Given the description of an element on the screen output the (x, y) to click on. 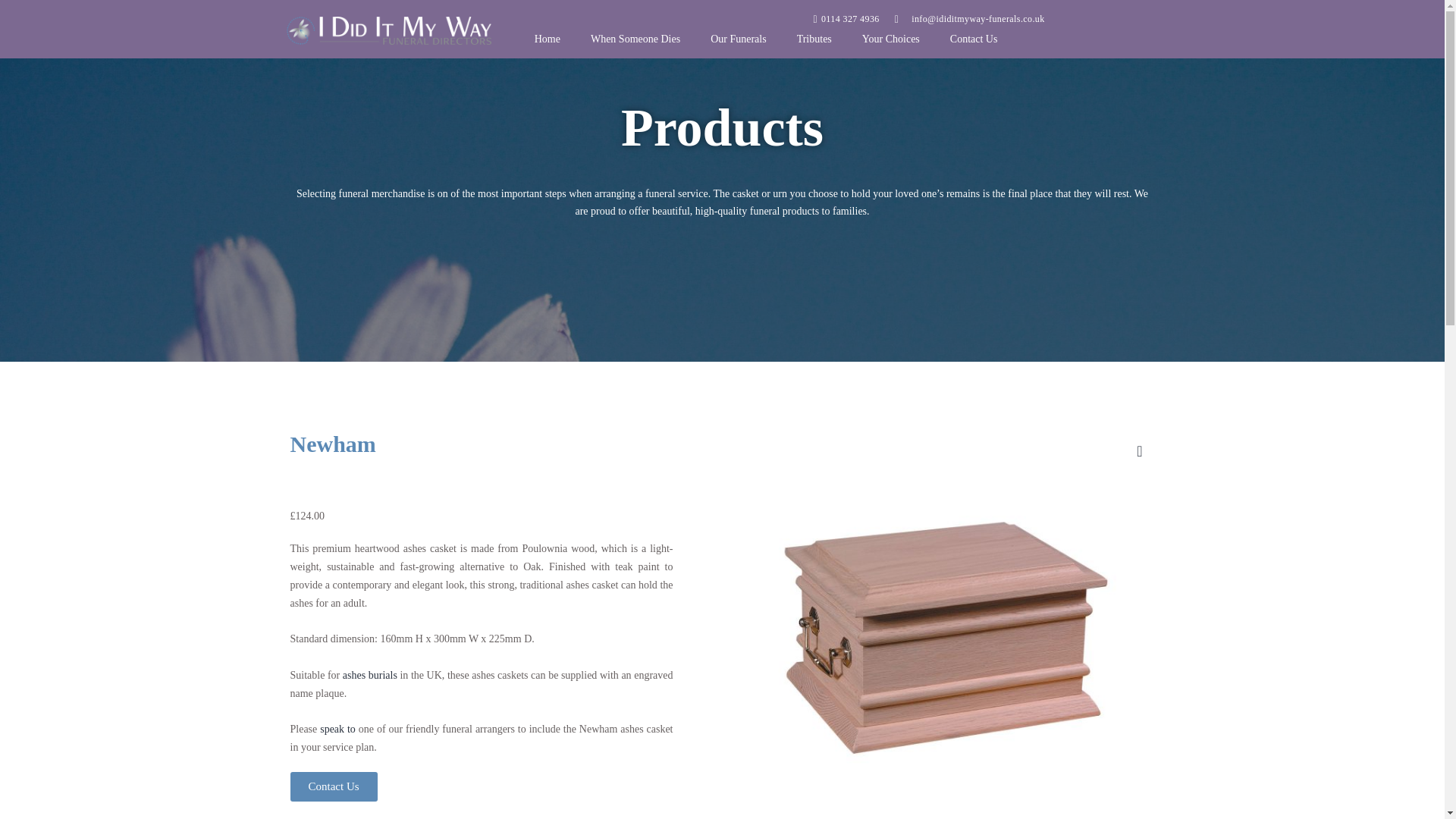
0114 327 4936 (696, 19)
Tributes (814, 39)
When Someone Dies (635, 39)
Our Funerals (738, 39)
Home (547, 39)
Your Choices (890, 39)
Contact Us (973, 39)
